Given the description of an element on the screen output the (x, y) to click on. 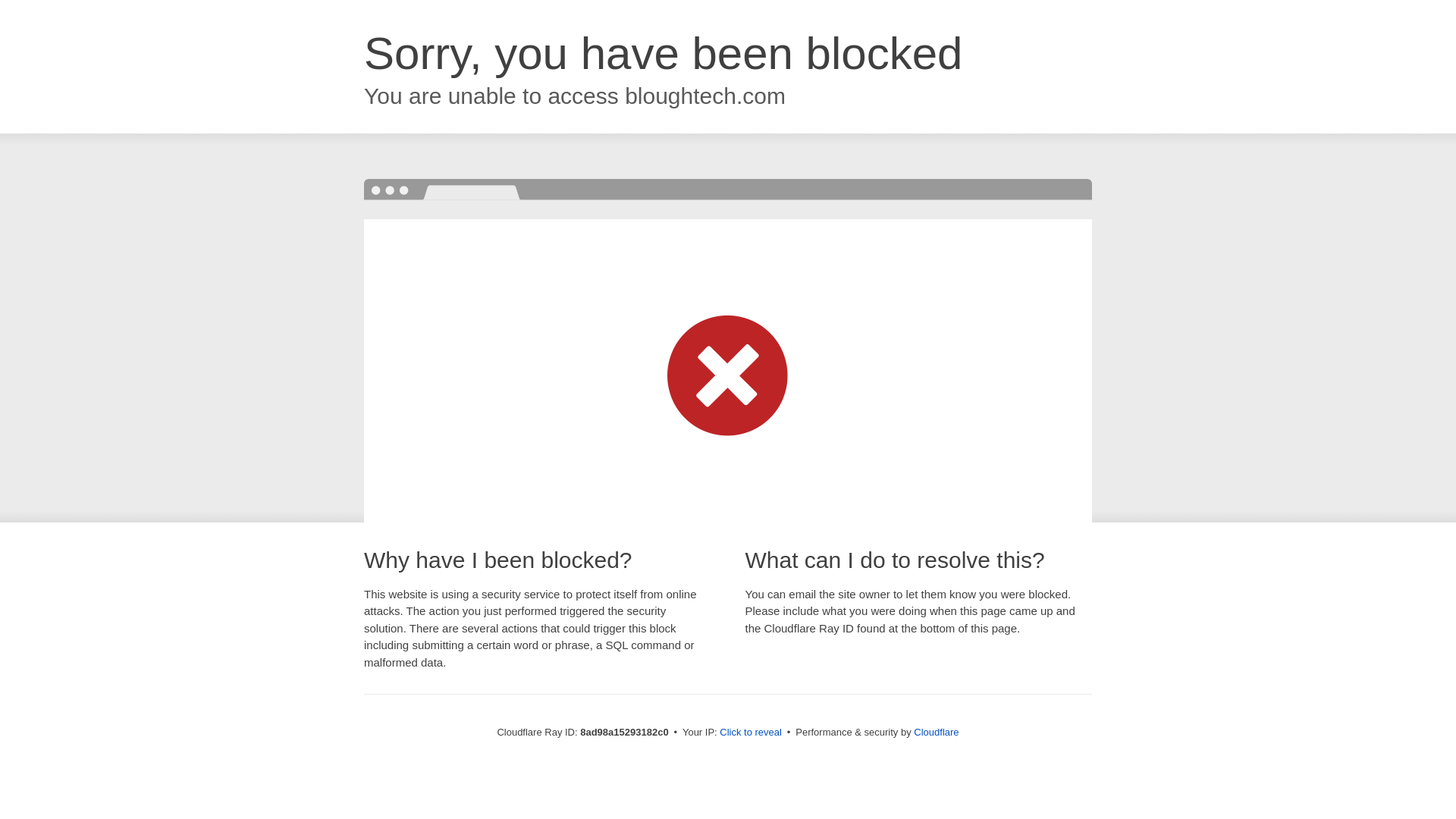
Click to reveal (750, 732)
Cloudflare (936, 731)
